Given the description of an element on the screen output the (x, y) to click on. 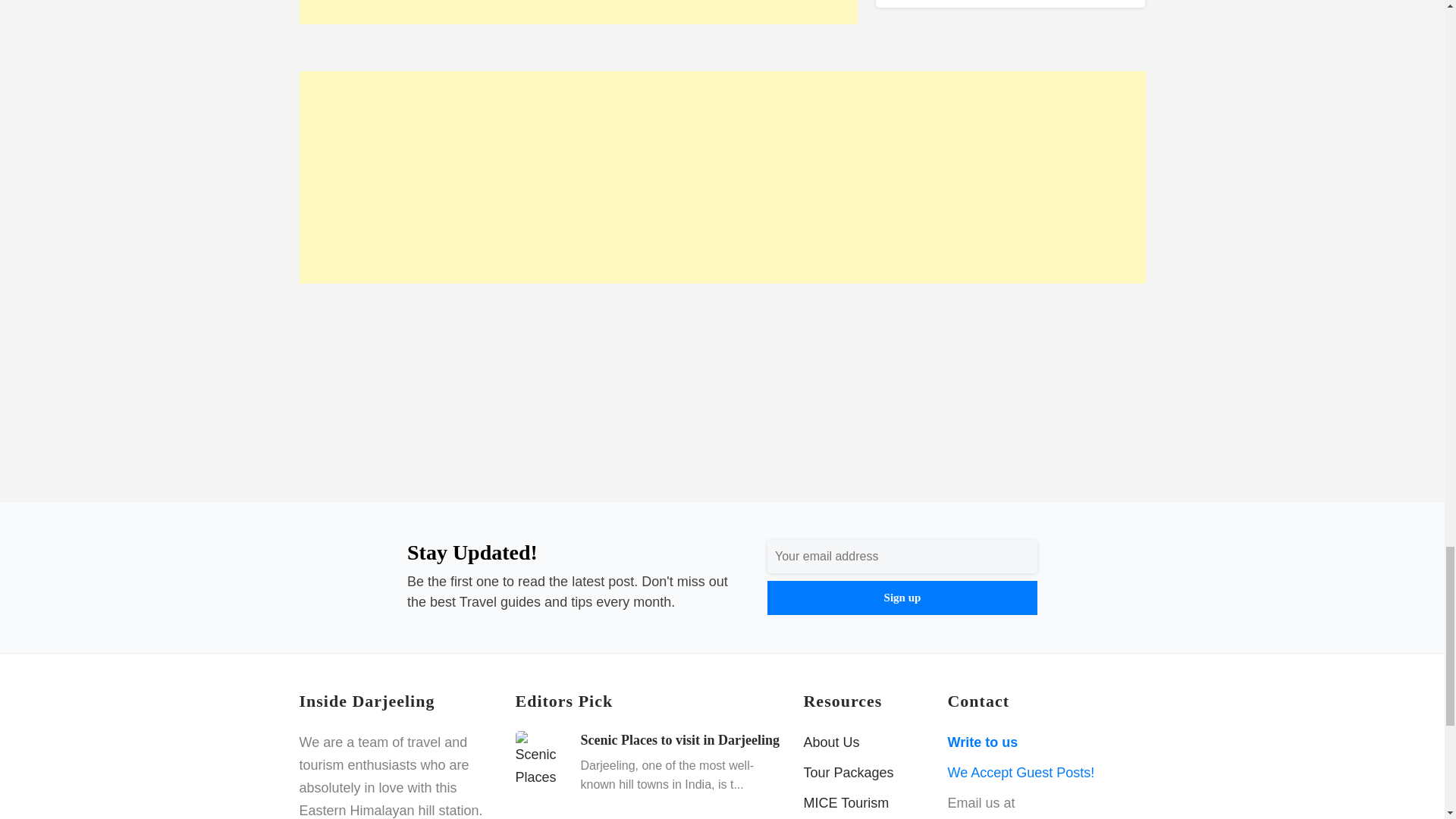
Sign up (901, 597)
